Given the description of an element on the screen output the (x, y) to click on. 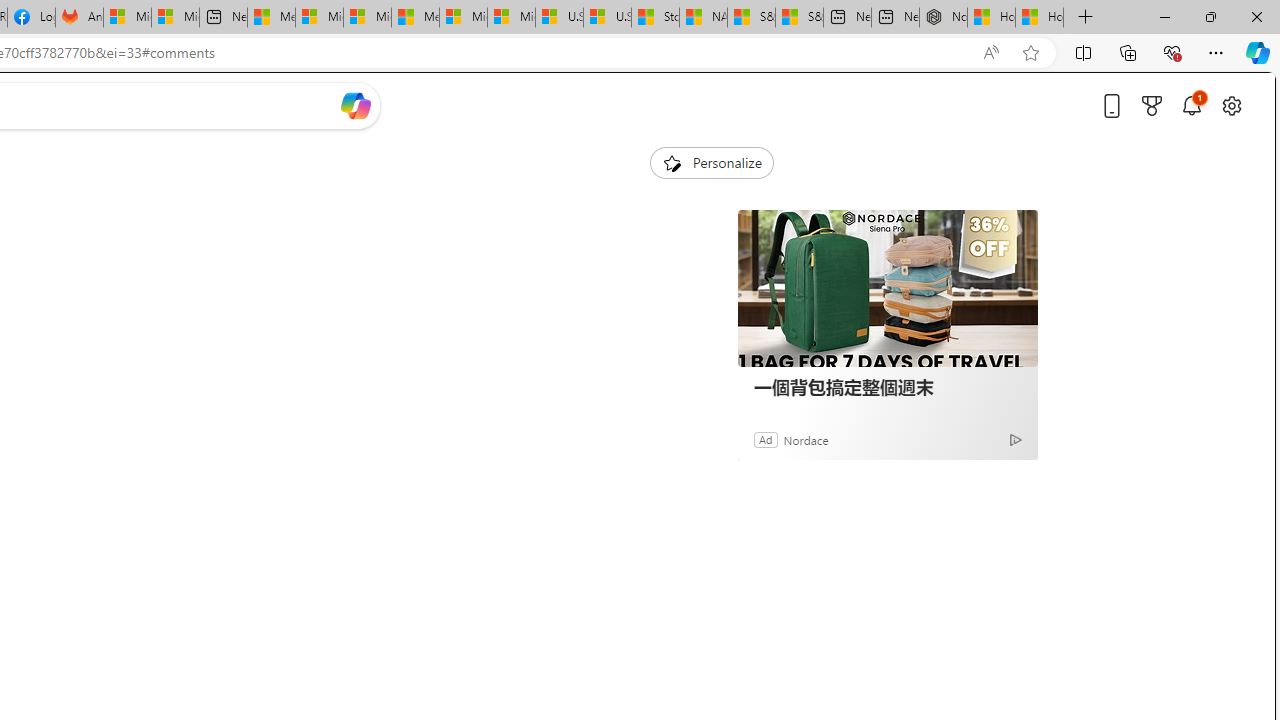
How to Use a Monitor With Your Closed Laptop (1039, 17)
Personalize (711, 162)
